Given the description of an element on the screen output the (x, y) to click on. 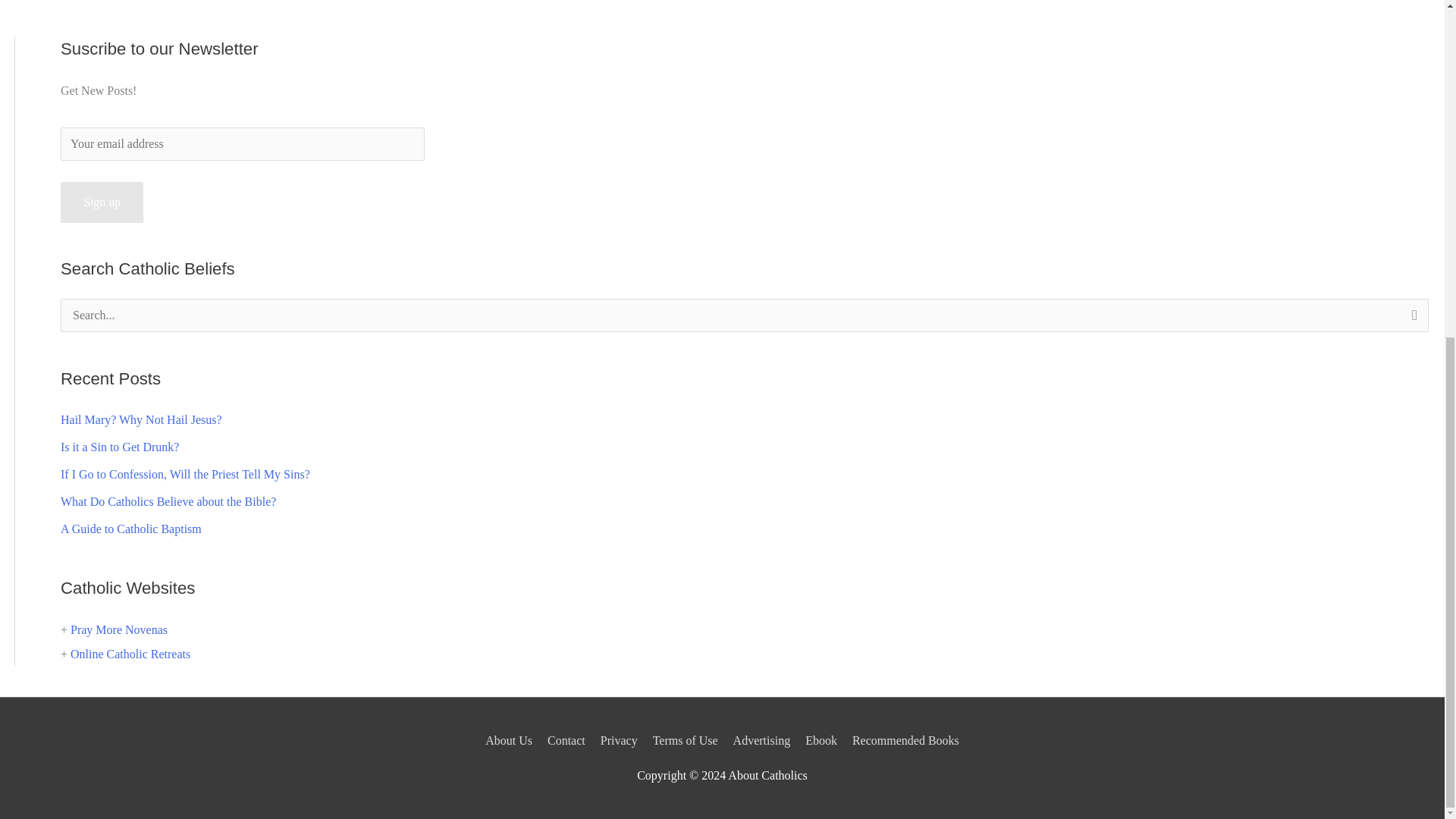
Privacy (618, 739)
Sign up (101, 201)
Contact (566, 739)
What Do Catholics Believe about the Bible? (168, 501)
Hail Mary? Why Not Hail Jesus? (141, 419)
Terms of Use (684, 739)
Sign up (101, 201)
Advertising (761, 739)
Recommended Books (902, 739)
Online Catholic Retreats (129, 653)
